Given the description of an element on the screen output the (x, y) to click on. 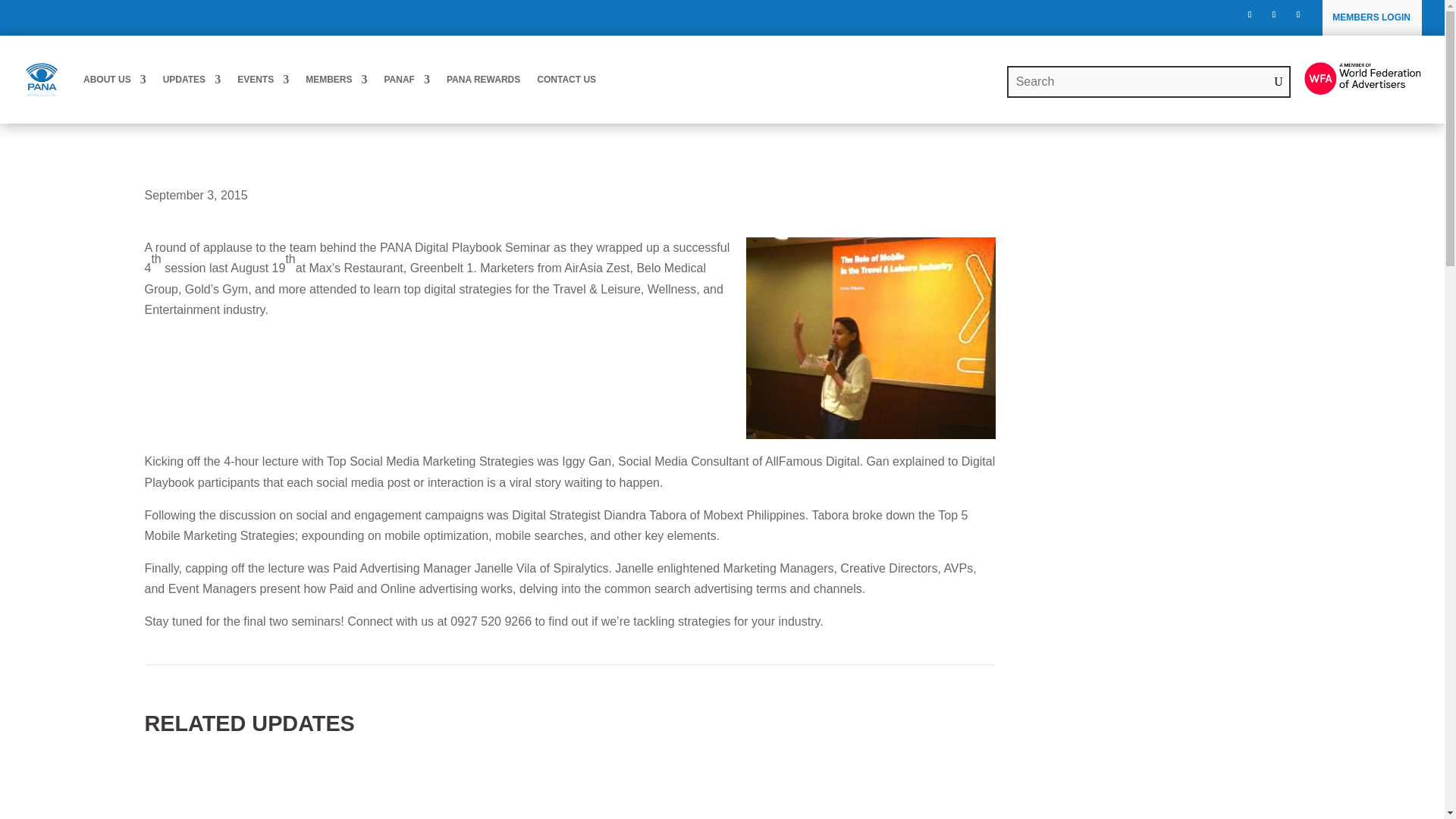
Follow on X (1273, 13)
Follow on Facebook (1249, 13)
 MEMBERS LOGIN (1370, 17)
Follow on LinkedIn (1297, 13)
PANA REWARDS (482, 79)
UPDATES (192, 79)
ABOUT US (114, 79)
EVENTS (262, 79)
CONTACT US (566, 79)
wfa logo 1 (1361, 78)
